Given the description of an element on the screen output the (x, y) to click on. 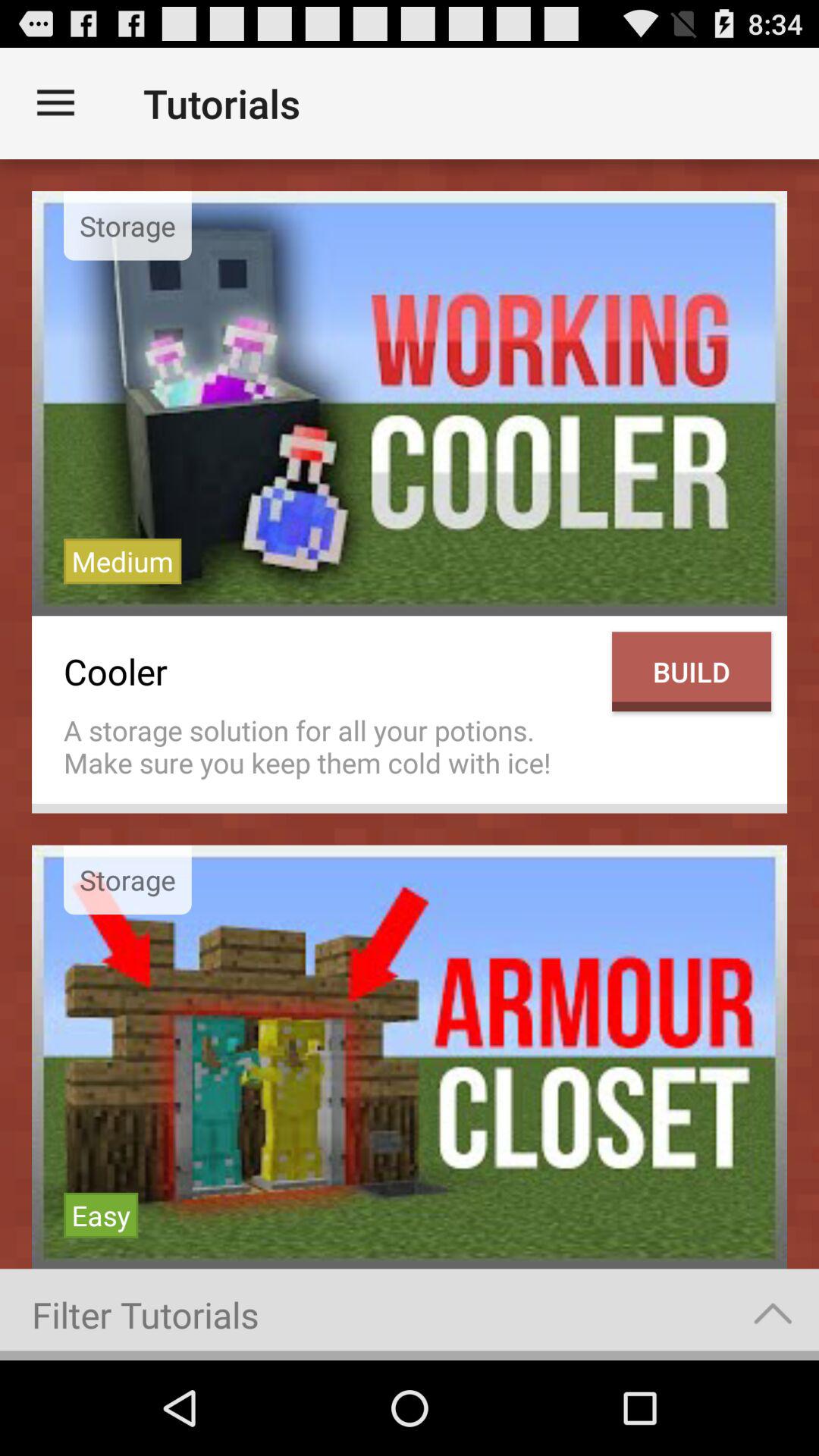
choose item below the storage icon (122, 561)
